Given the description of an element on the screen output the (x, y) to click on. 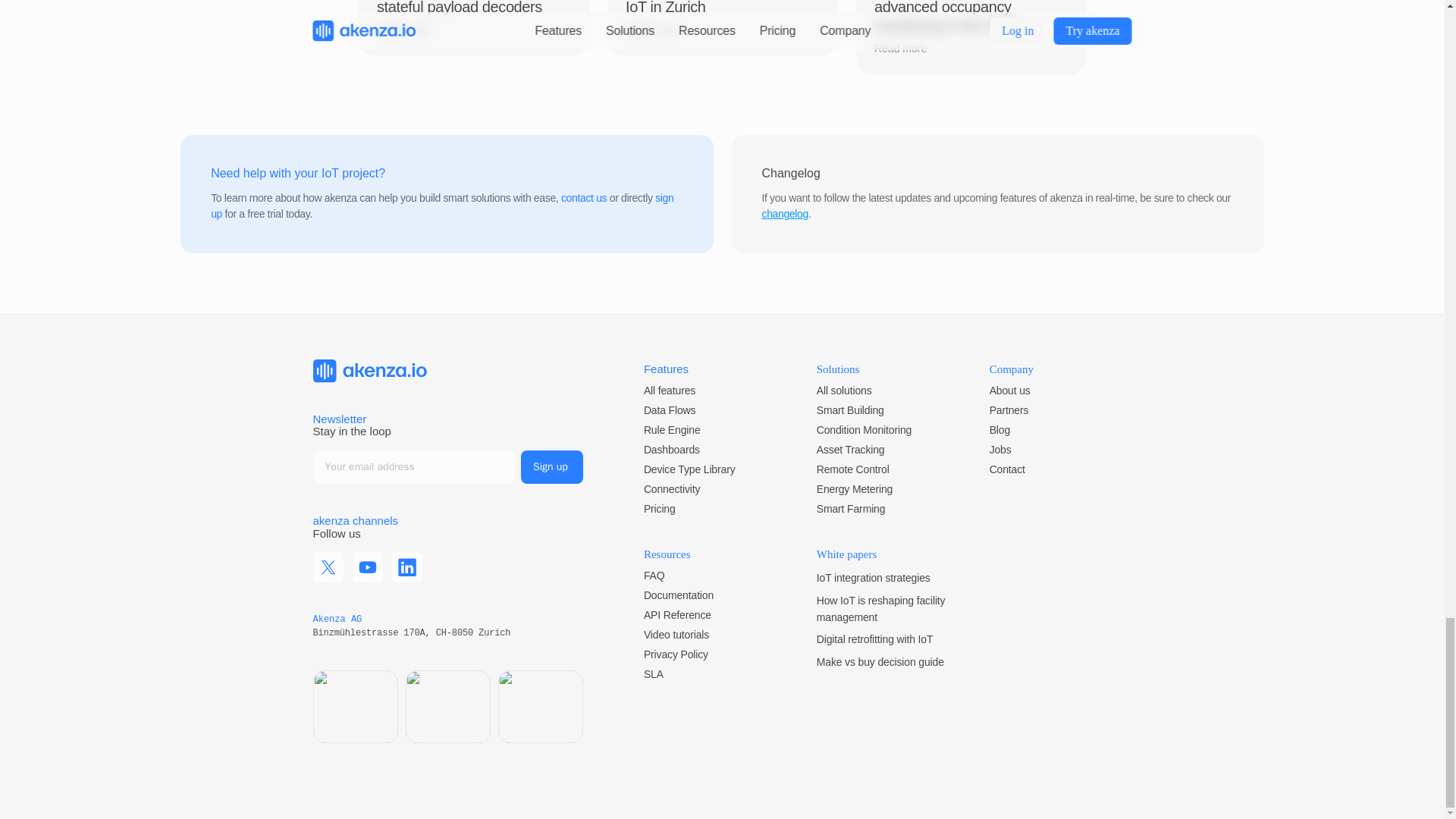
Read more (659, 29)
Rule Engine (671, 429)
changelog (784, 214)
Solutions (838, 369)
Features (665, 368)
Connectivity (671, 489)
Data Flows (669, 410)
Device Type Library (689, 469)
Read more (410, 29)
Pricing (659, 508)
sign up (444, 205)
Dashboards (671, 449)
